Given the description of an element on the screen output the (x, y) to click on. 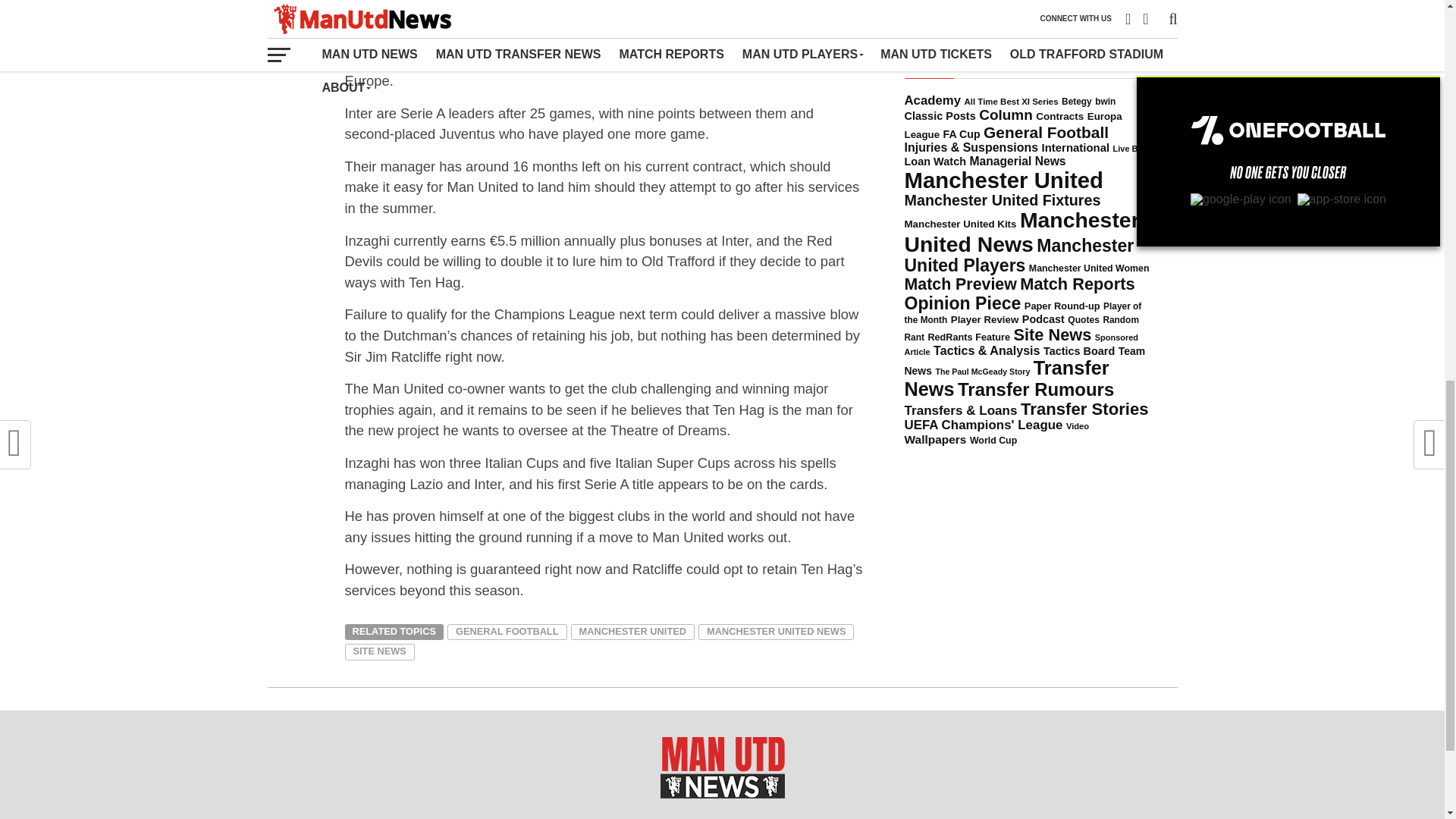
GENERAL FOOTBALL (506, 632)
tell (433, 59)
MANCHESTER UNITED NEWS (775, 632)
SITE NEWS (378, 651)
MANCHESTER UNITED (632, 632)
